Given the description of an element on the screen output the (x, y) to click on. 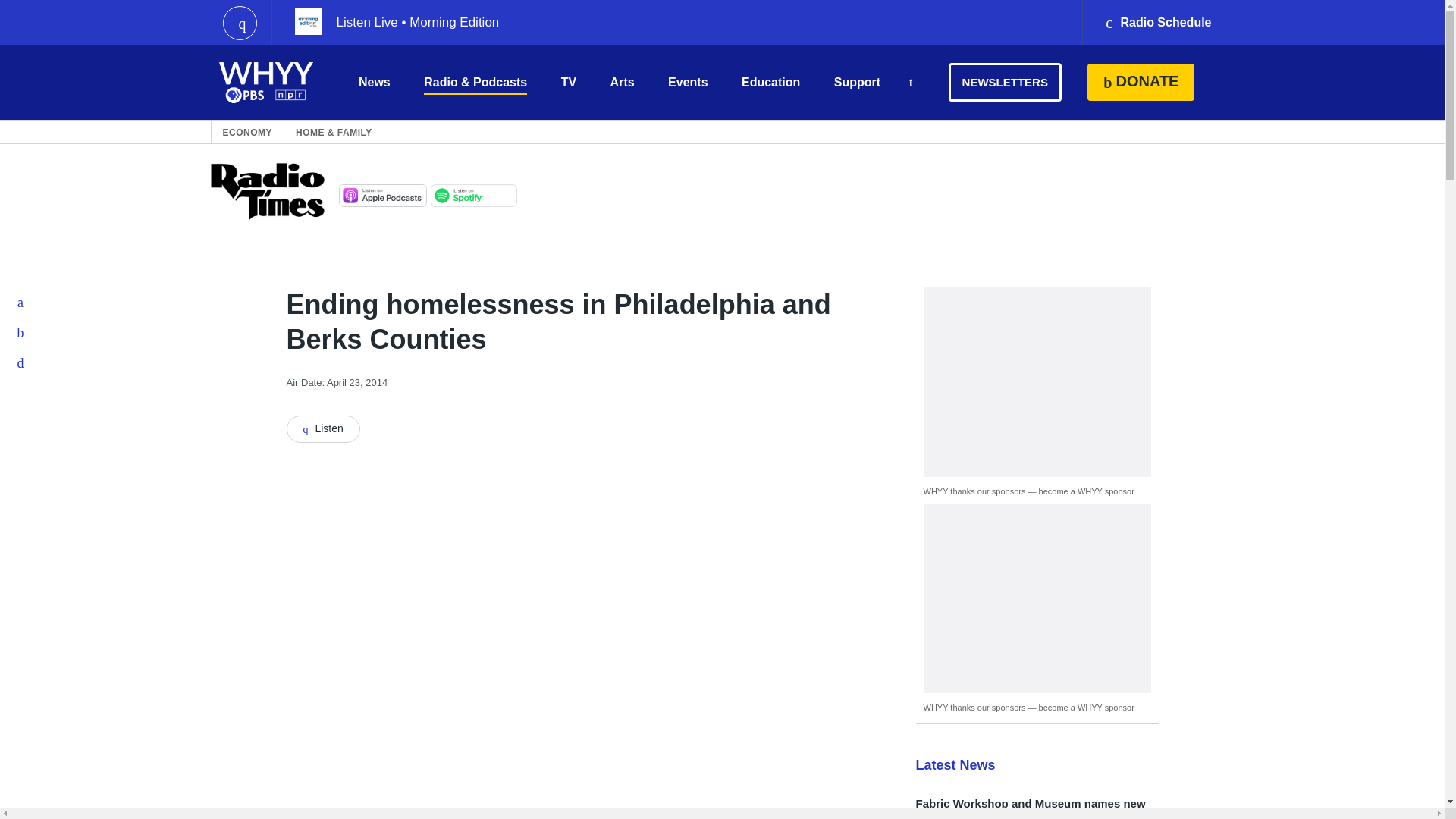
Search (910, 83)
Twitter (21, 332)
Email (21, 363)
Facebook (21, 302)
Ending homelessness in Philadelphia and Berks Counties (322, 429)
Radio Schedule (1157, 22)
ECONOMY (247, 132)
WHYY (266, 82)
